Given the description of an element on the screen output the (x, y) to click on. 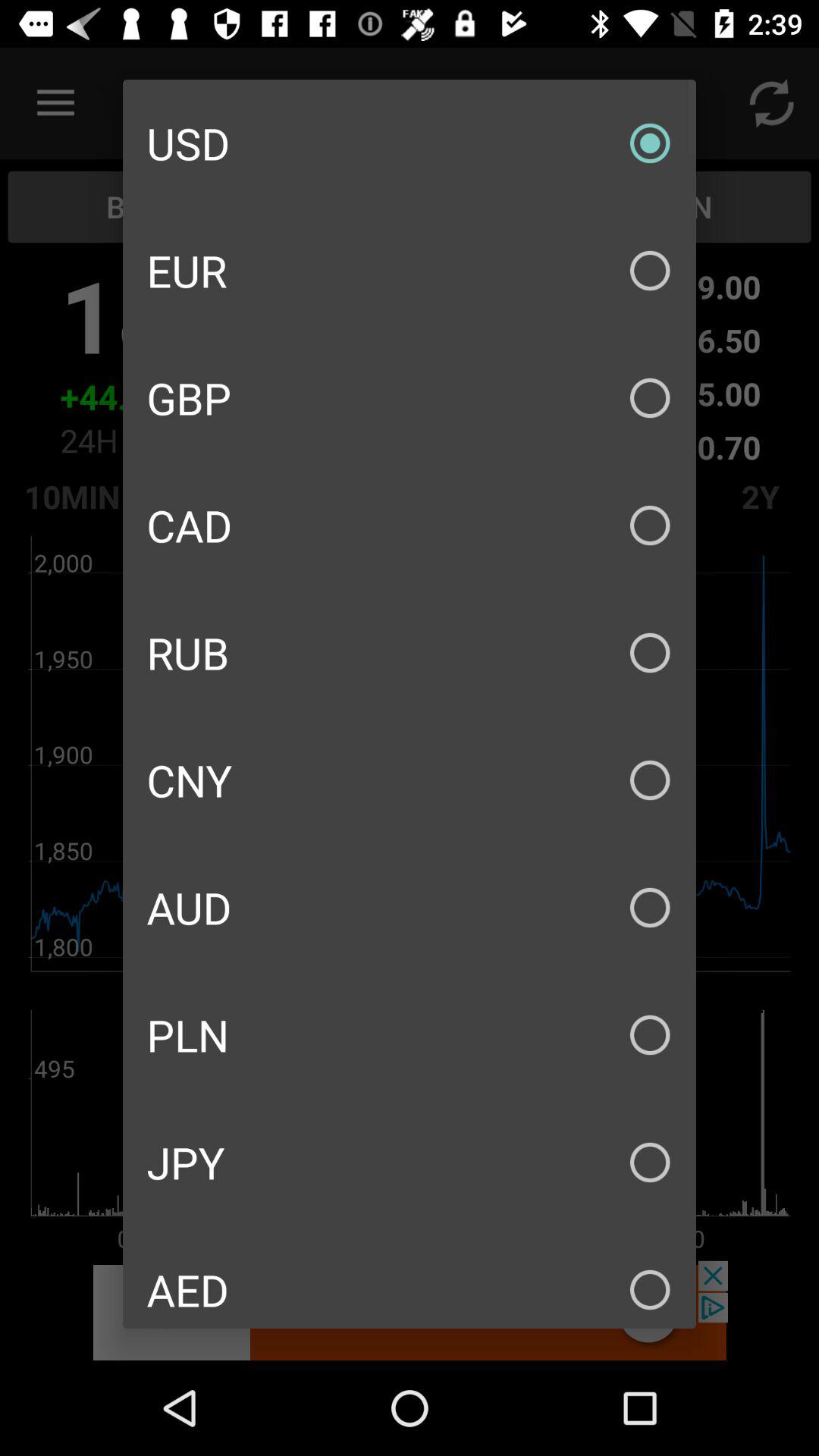
tap the item below the rub item (409, 780)
